Given the description of an element on the screen output the (x, y) to click on. 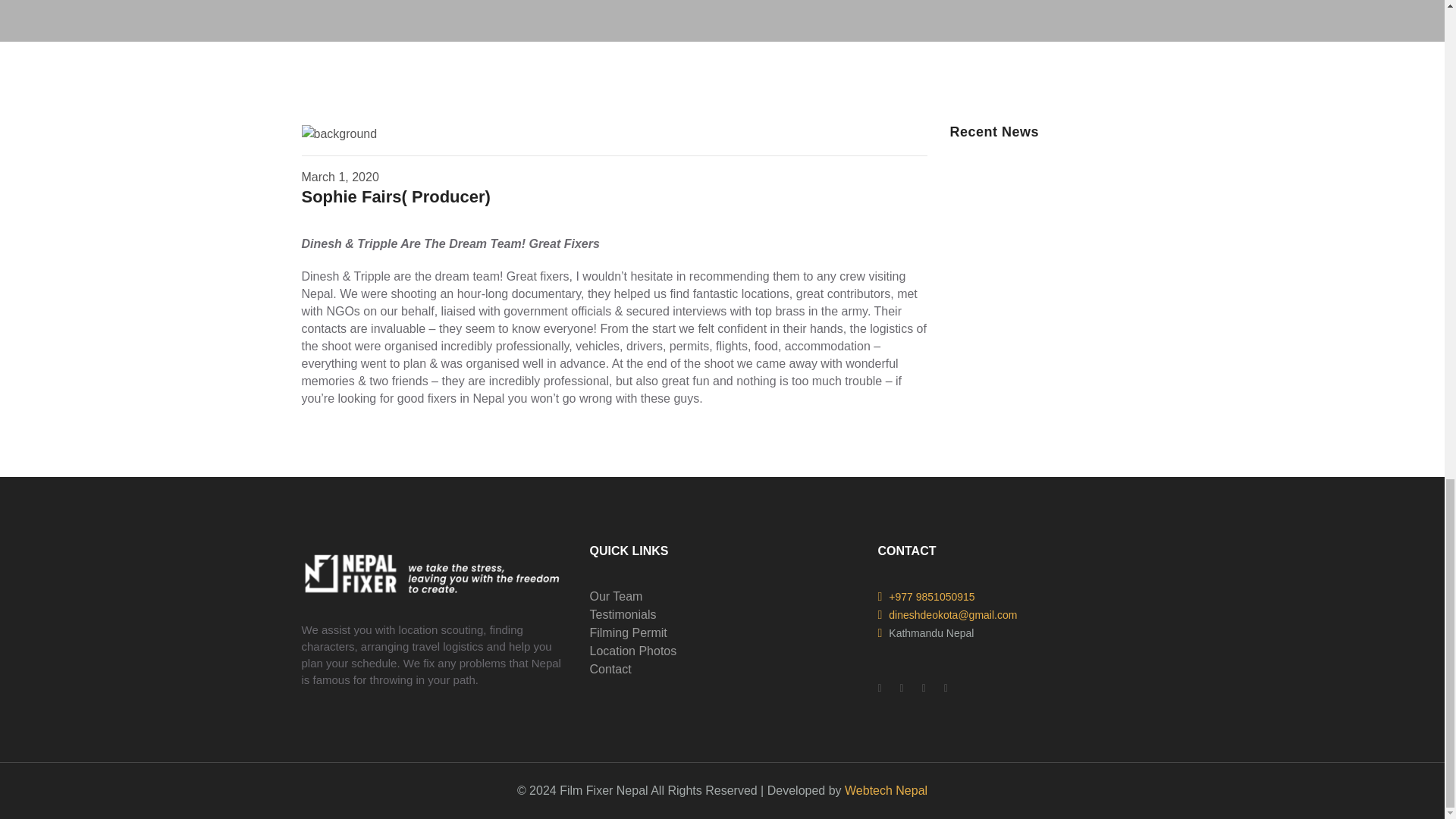
Filming Permit (627, 632)
Location Photos (633, 650)
Webtech Nepal (885, 789)
Contact (609, 668)
Testimonials (622, 614)
Our Team (615, 595)
